Given the description of an element on the screen output the (x, y) to click on. 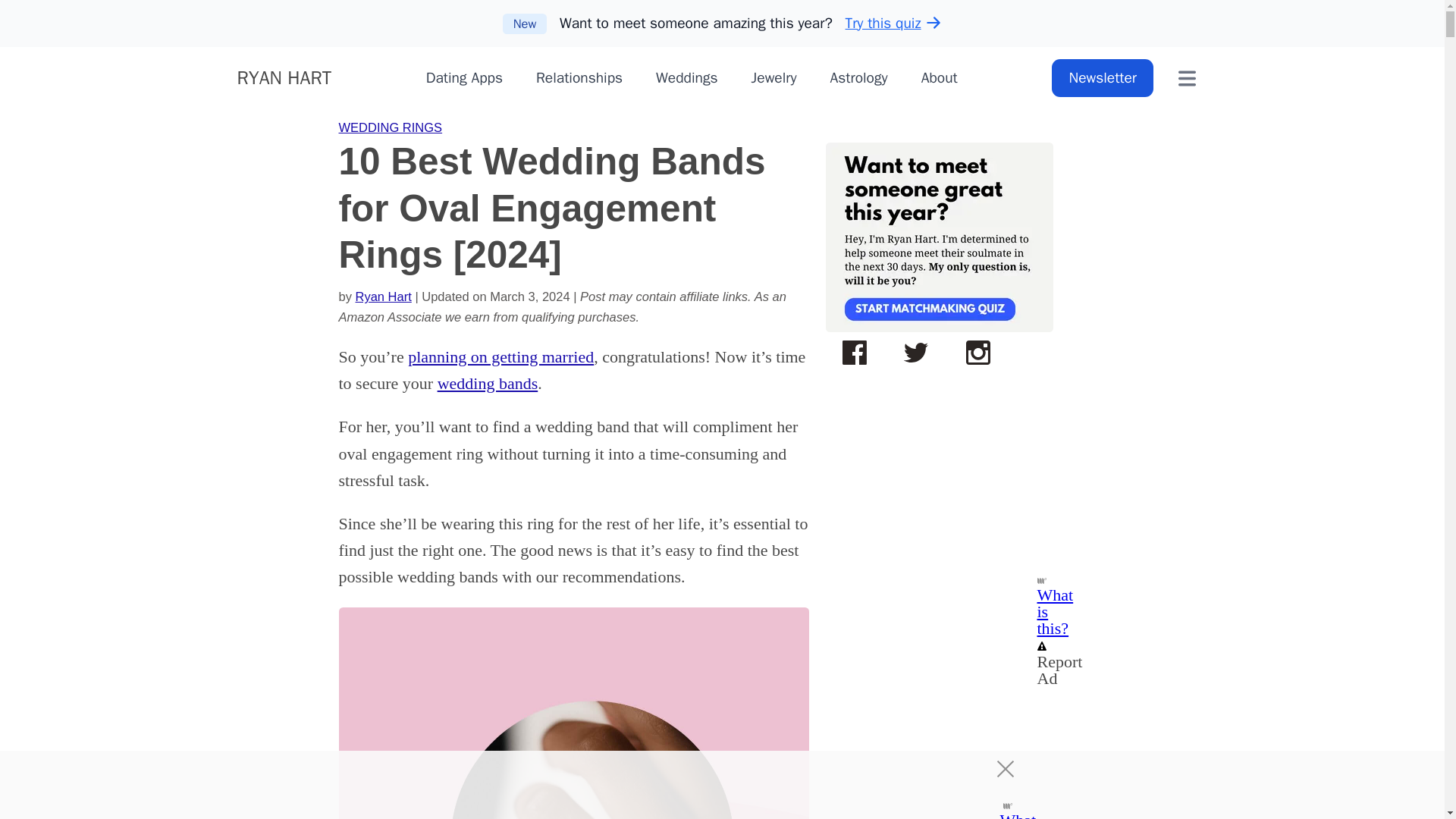
Astrology (858, 77)
Open main menu (1187, 78)
Weddings (686, 77)
Dating Apps (464, 77)
Ryan Hart (383, 296)
Jewelry (773, 77)
WEDDING RINGS (389, 127)
3rd party ad content (708, 785)
planning on getting married (500, 356)
Instagram profile (976, 352)
wedding bands (488, 383)
Facebook profile (854, 352)
Newsletter (1102, 77)
About (939, 77)
Try this quiz (893, 22)
